Given the description of an element on the screen output the (x, y) to click on. 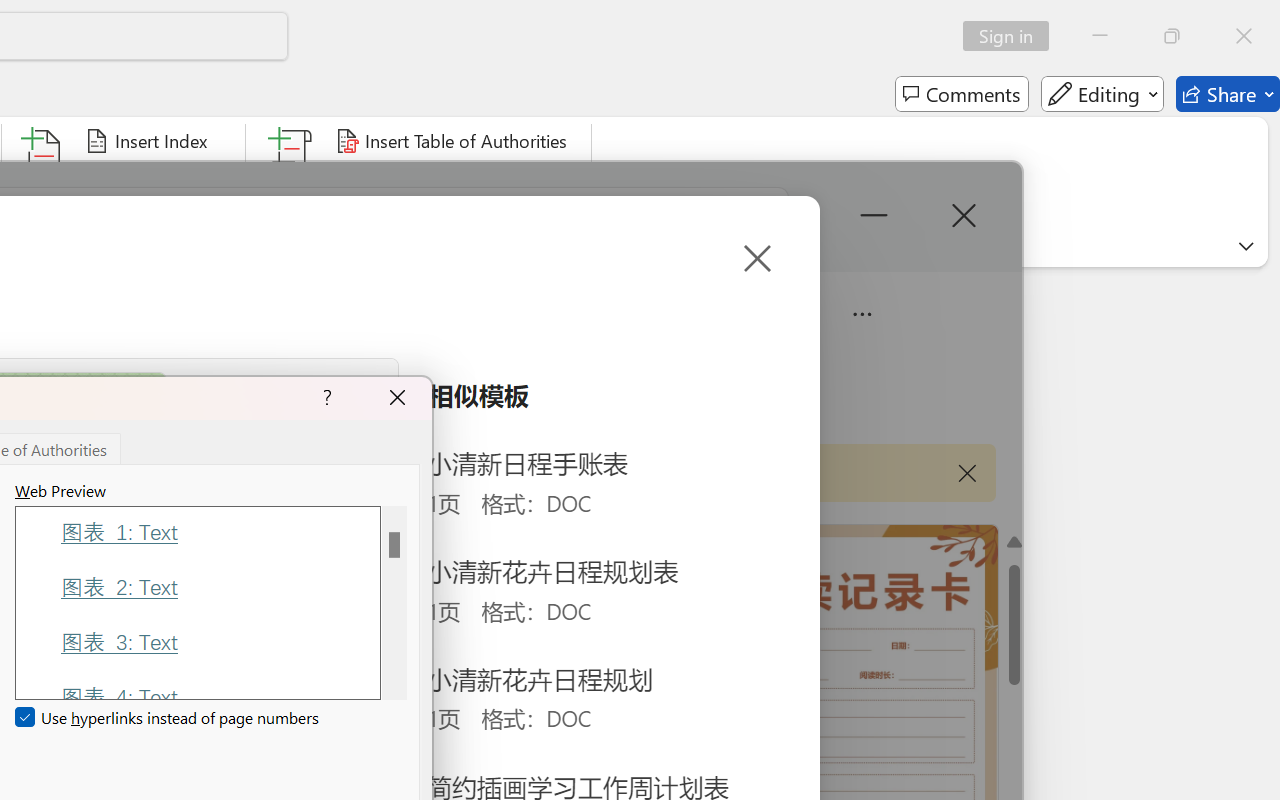
Update Index (156, 179)
AutomationID: 66 (394, 602)
Mark Citation... (292, 179)
Web Preview (394, 602)
Sign in (1012, 35)
Insert Table of Authorities... (453, 141)
Use hyperlinks instead of page numbers (168, 717)
